Given the description of an element on the screen output the (x, y) to click on. 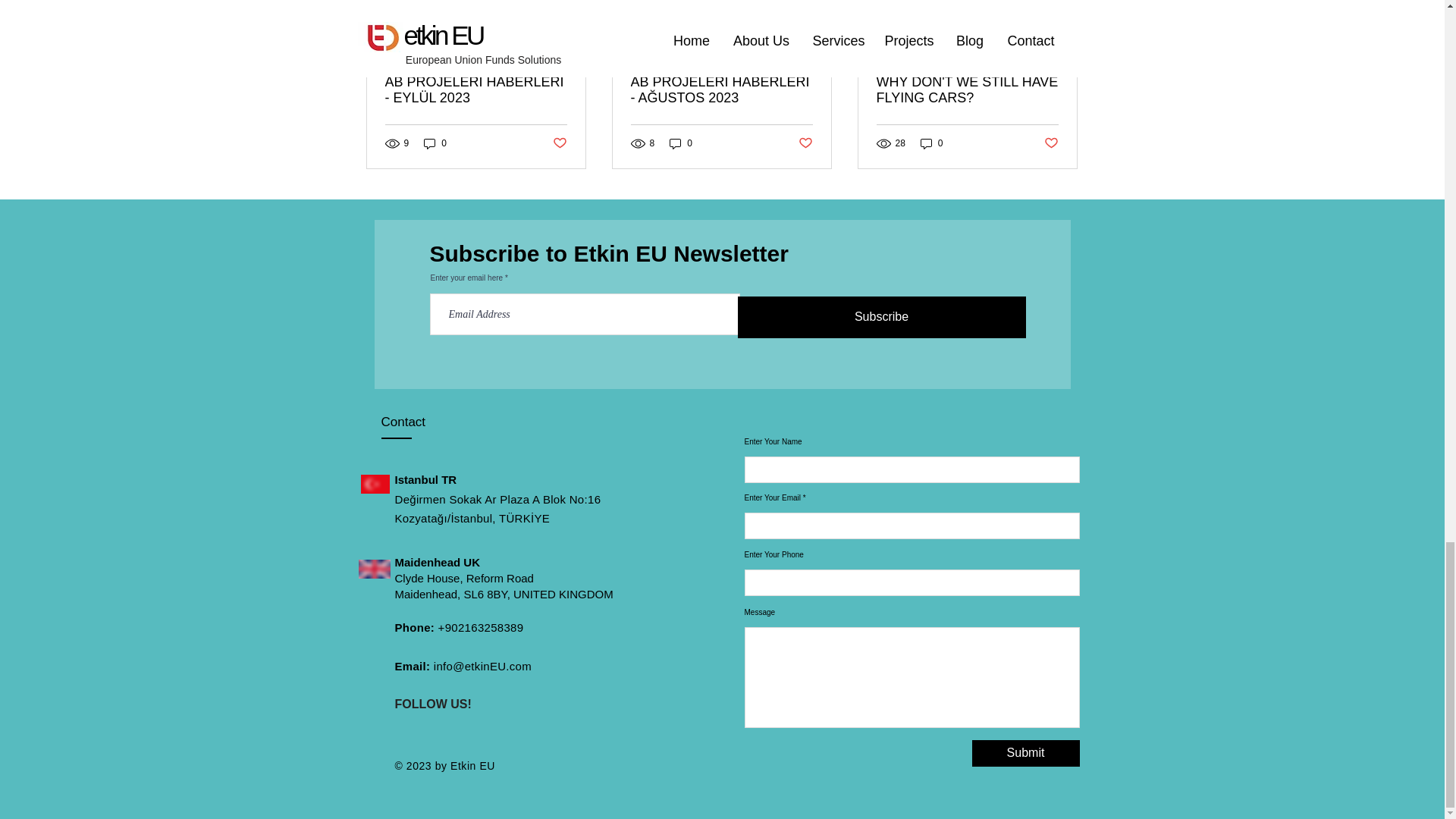
WHY DON'T WE STILL HAVE FLYING CARS? (967, 90)
0 (681, 143)
Subscribe (880, 317)
0 (435, 143)
0 (931, 143)
Submit (1026, 753)
FOLLOW US! (432, 703)
Email: i (414, 666)
